Given the description of an element on the screen output the (x, y) to click on. 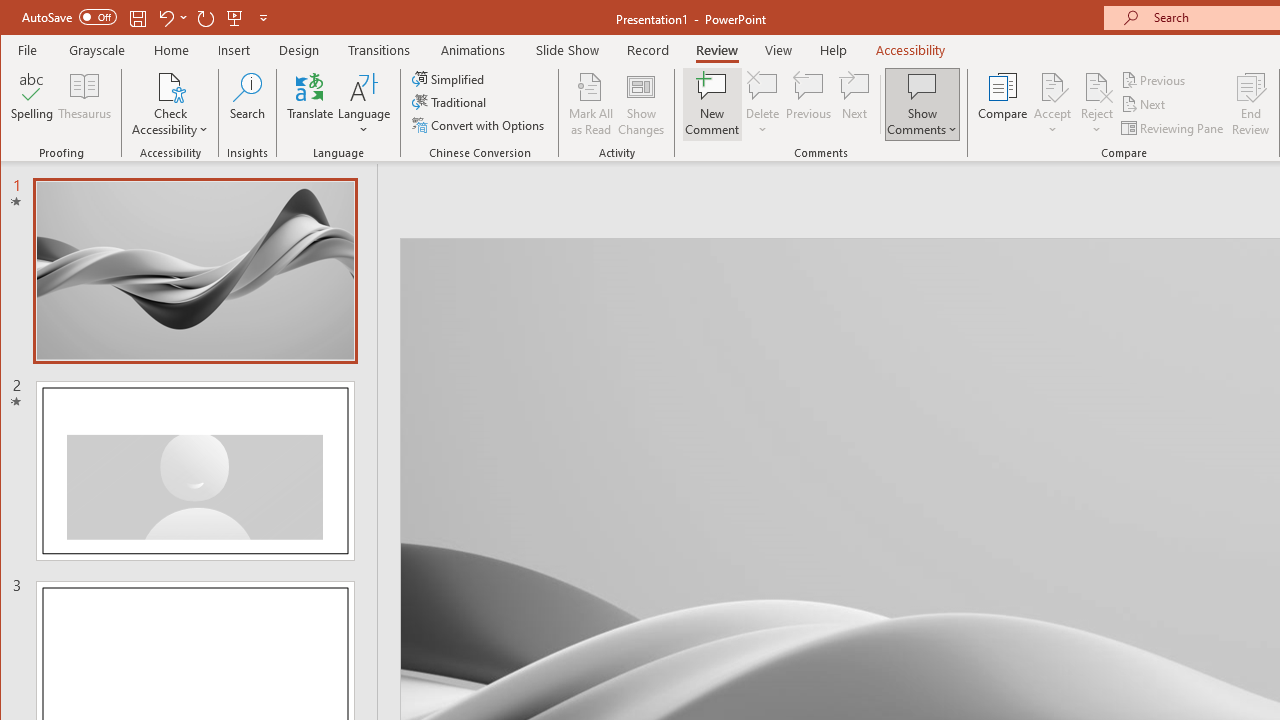
Language (363, 104)
Thesaurus... (84, 104)
Show Changes (640, 104)
Next (1144, 103)
Reviewing Pane (1173, 127)
Spelling... (32, 104)
